Given the description of an element on the screen output the (x, y) to click on. 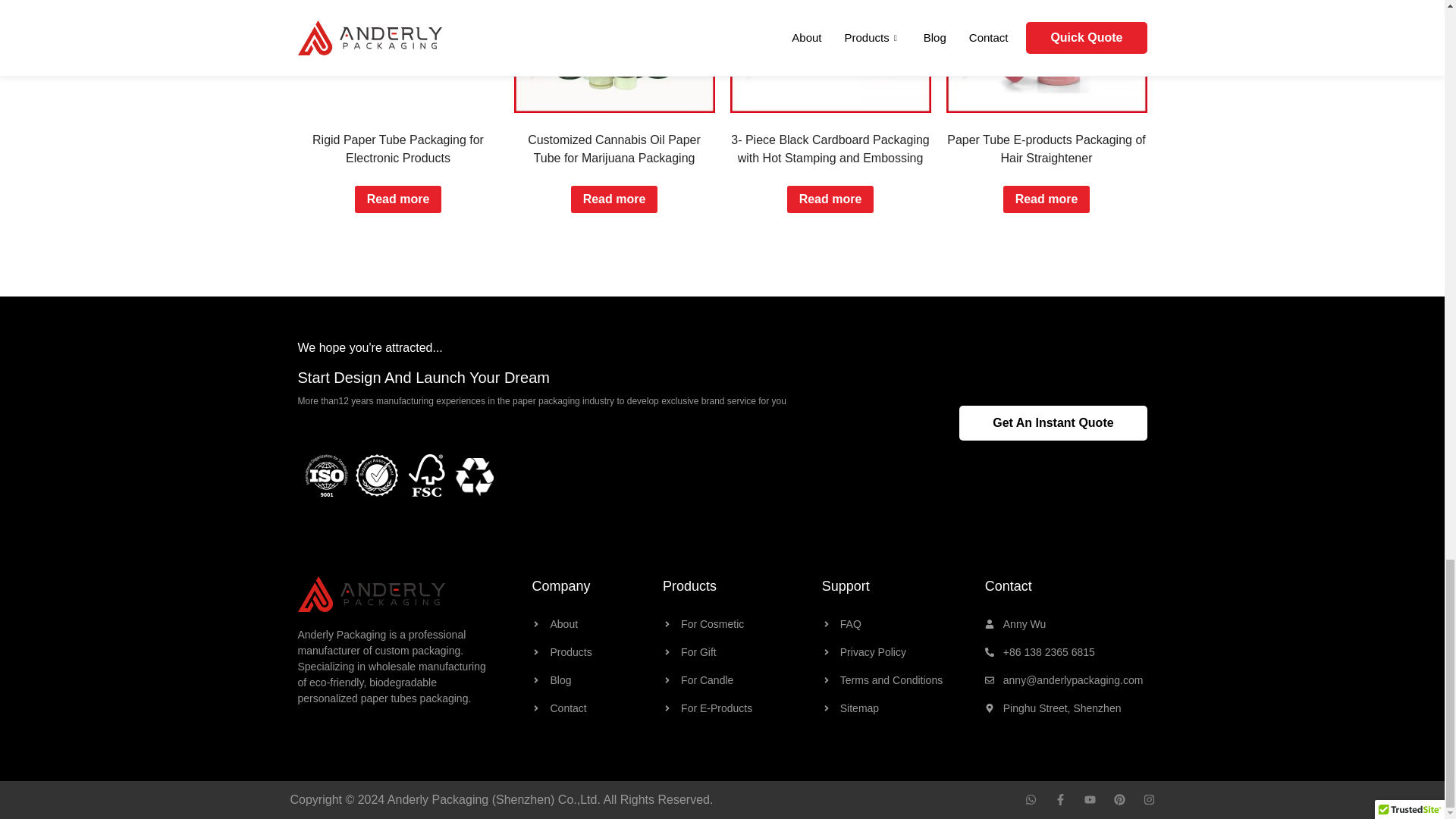
1 (473, 476)
